Given the description of an element on the screen output the (x, y) to click on. 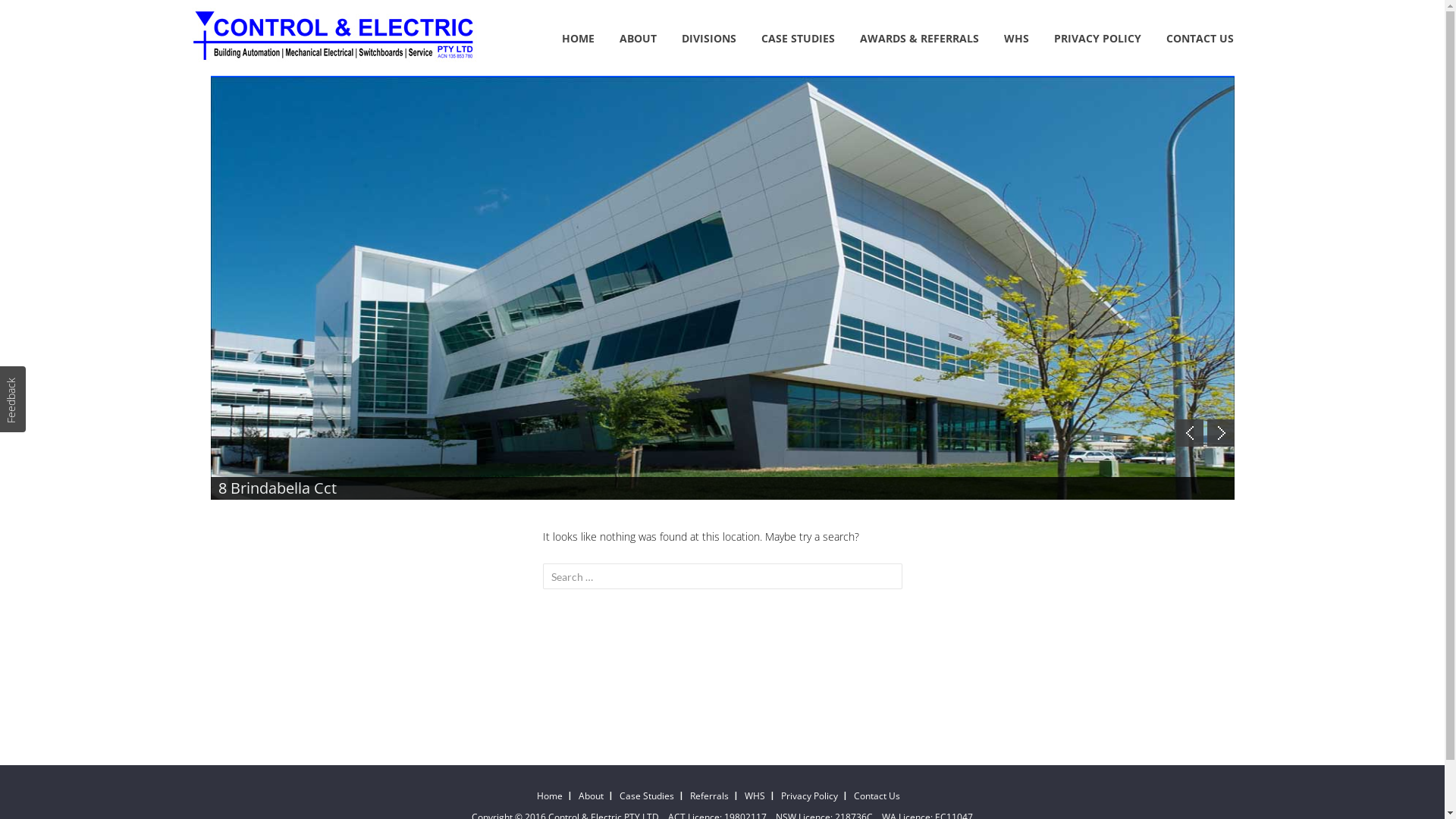
Contact Us Element type: text (877, 795)
ABOUT Element type: text (636, 39)
Referrals Element type: text (710, 795)
Home Element type: text (553, 795)
WHS Element type: text (755, 795)
Search Element type: text (40, 13)
CONTACT US Element type: text (1199, 39)
WHS Element type: text (1016, 39)
SKIP TO CONTENT Element type: text (538, 32)
PRIVACY POLICY Element type: text (1097, 39)
Case Studies Element type: text (648, 795)
Prev Element type: text (1188, 432)
AWARDS & REFERRALS Element type: text (919, 39)
CASE STUDIES Element type: text (797, 39)
Privacy Policy Element type: text (810, 795)
HOME Element type: text (577, 39)
Next Element type: text (1220, 432)
DIVISIONS Element type: text (707, 39)
About Element type: text (592, 795)
